Given the description of an element on the screen output the (x, y) to click on. 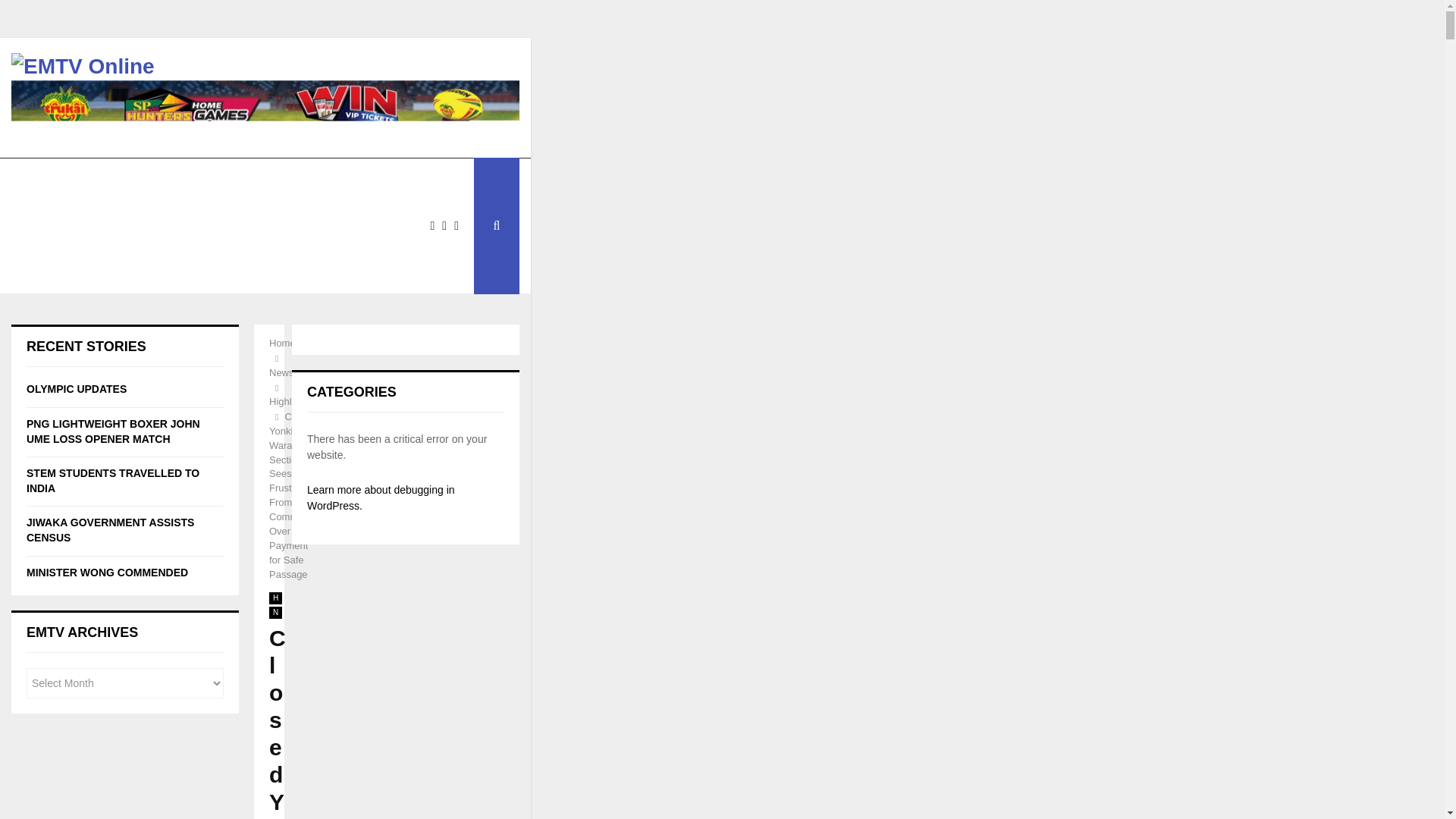
TV SCHEDULE (225, 180)
NEWS (45, 180)
PROGRAMMES (333, 180)
LIFE (113, 225)
SPORT (47, 225)
WATCH NOW (126, 180)
